Given the description of an element on the screen output the (x, y) to click on. 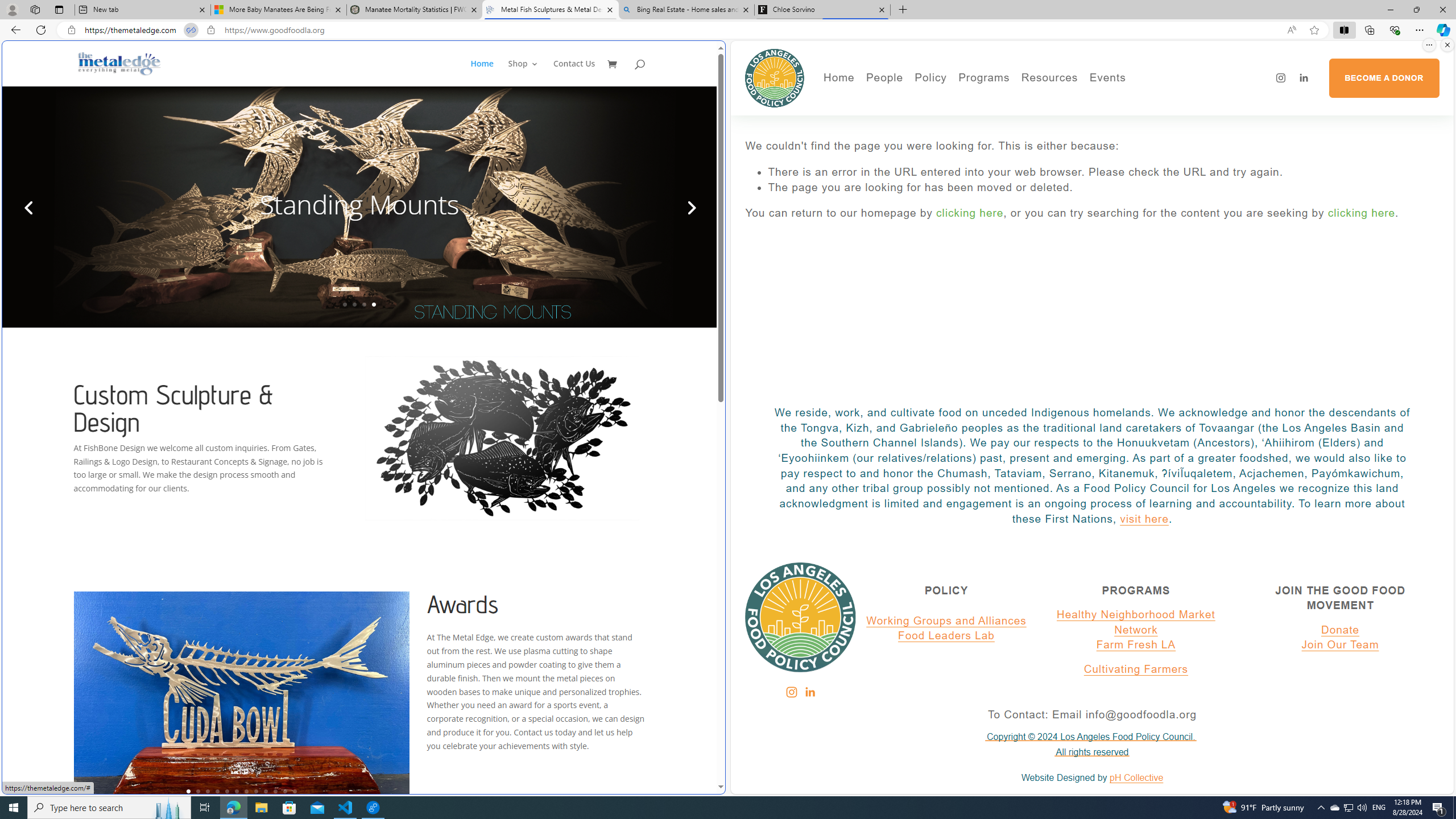
Resources (1049, 77)
People (922, 116)
Blog (922, 148)
visit here (1144, 519)
Chloe Sorvino (822, 9)
7 (246, 790)
